Given the description of an element on the screen output the (x, y) to click on. 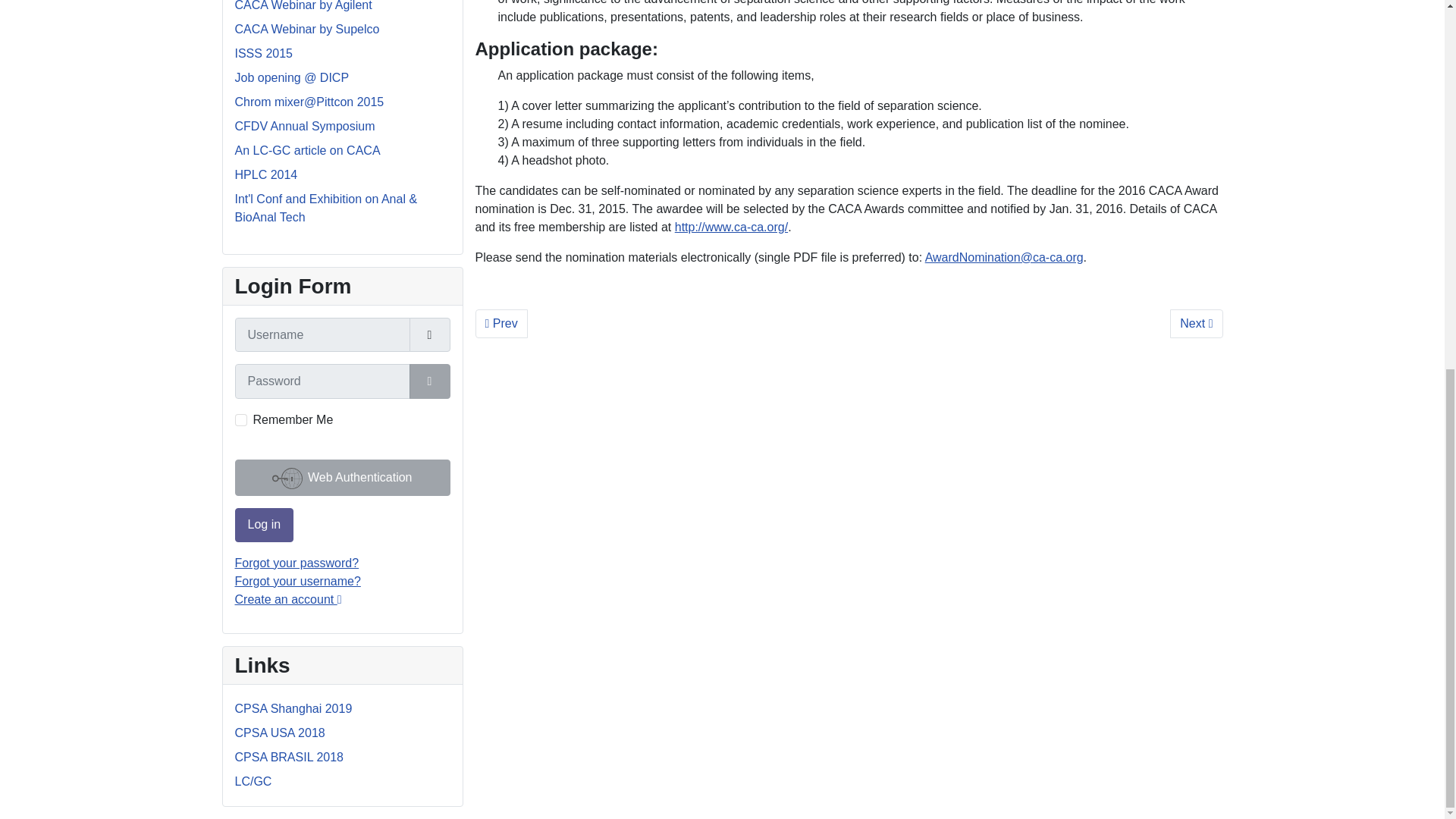
CFDV Annual Symposium (304, 125)
yes (240, 419)
Show Password (429, 380)
Log in (264, 524)
Web Authentication (341, 477)
HPLC 2014 (266, 174)
Web Authentication (341, 477)
ISSS 2015 (264, 52)
CACA Webinar by Supelco (307, 29)
CACA Webinar by Agilent (303, 5)
Forgot your username? (297, 581)
Username (429, 334)
Forgot your password? (296, 562)
An LC-GC article on CACA (307, 150)
